Given the description of an element on the screen output the (x, y) to click on. 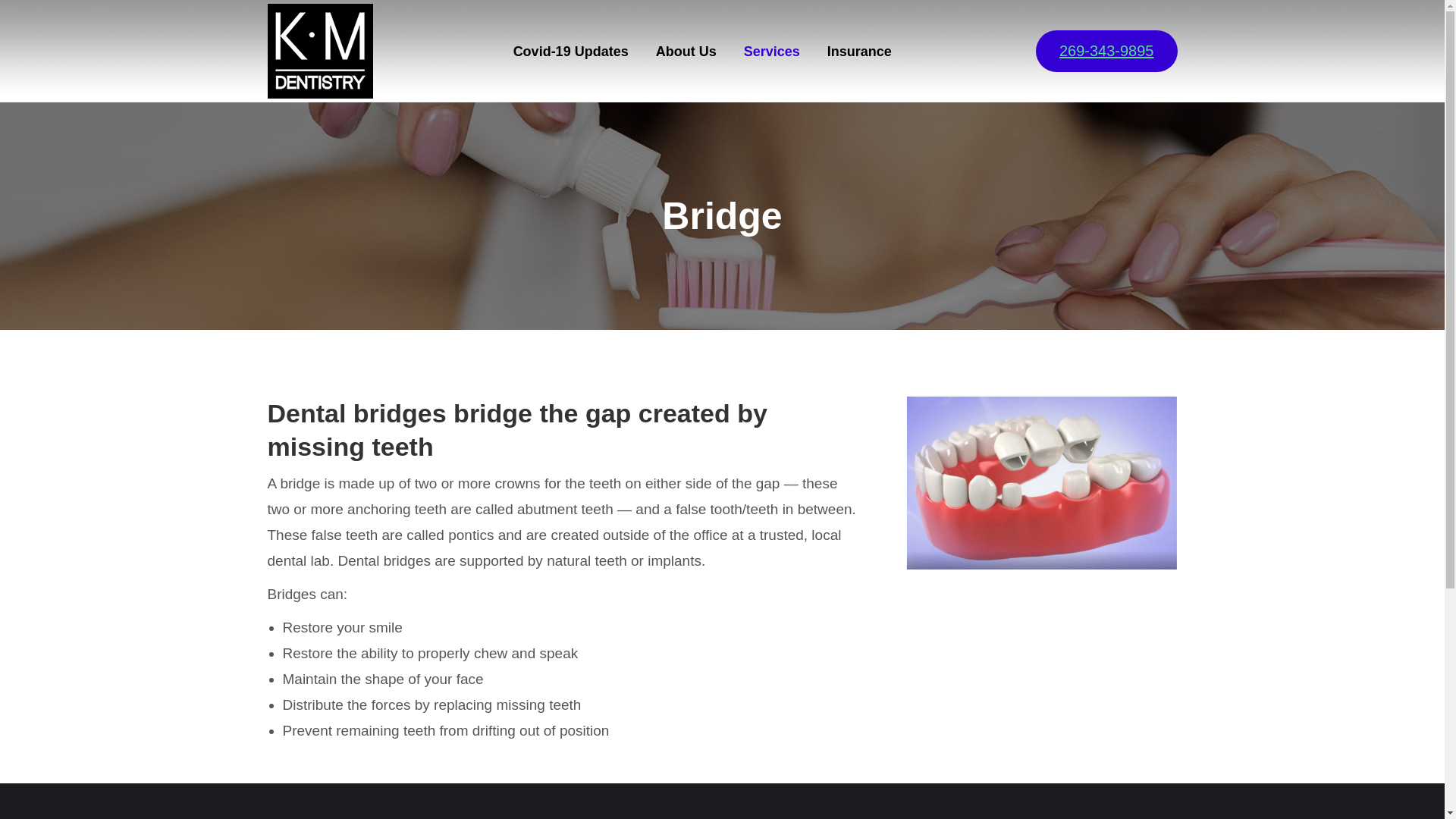
Insurance (859, 50)
Covid-19 Updates (571, 50)
About Us (685, 50)
269-343-9895 (1106, 51)
Services (772, 50)
